Given the description of an element on the screen output the (x, y) to click on. 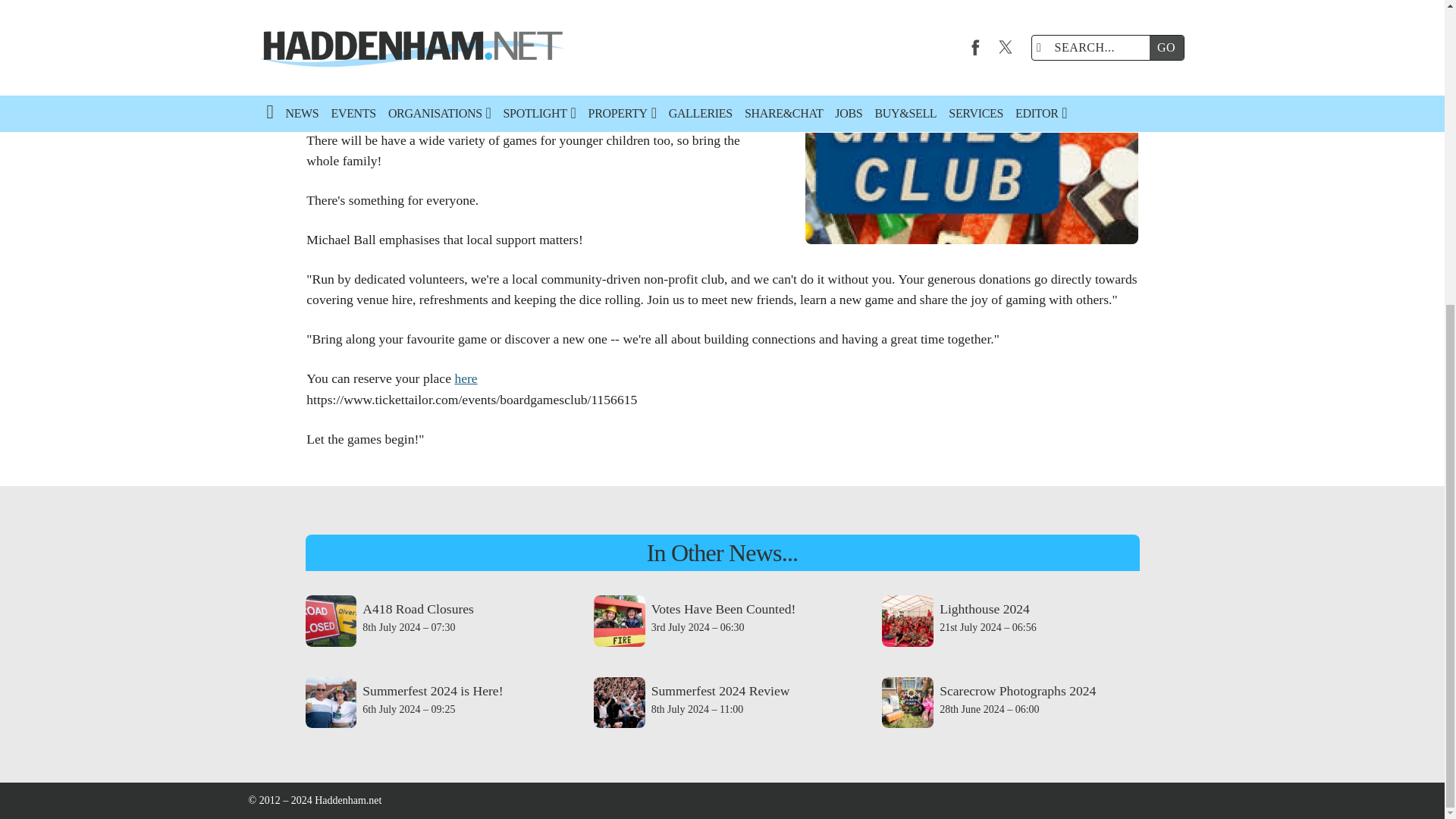
here (465, 378)
